Given the description of an element on the screen output the (x, y) to click on. 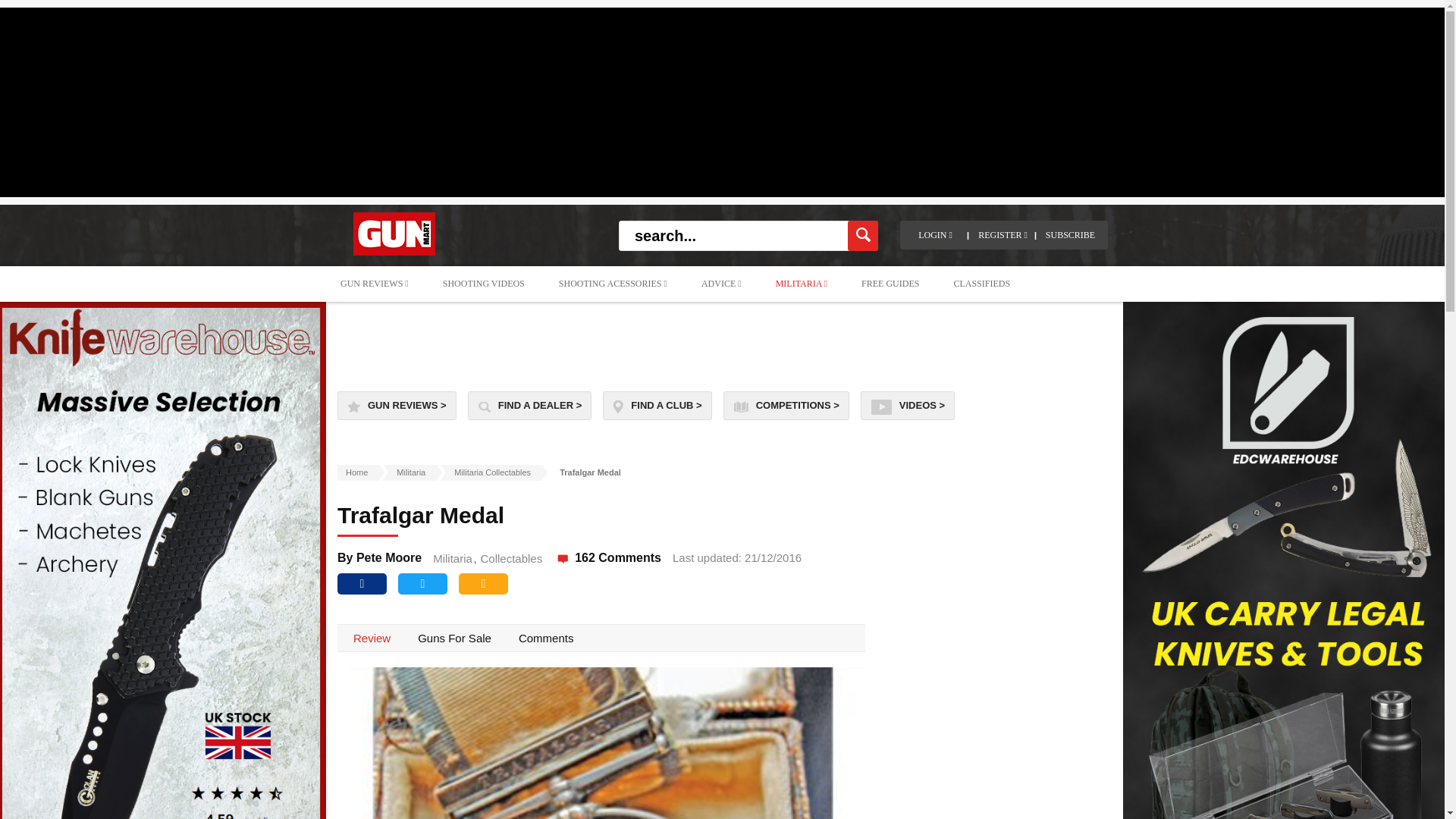
GUN REVIEWS (374, 284)
Gun Mart Logo (394, 233)
SHOOTING ACESSORIES (612, 284)
Trafalgar Medal (600, 743)
SUBSCRIBE (1069, 235)
LOGIN (935, 235)
3rd party ad content (722, 342)
REGISTER (1002, 235)
SHOOTING VIDEOS (483, 284)
